Given the description of an element on the screen output the (x, y) to click on. 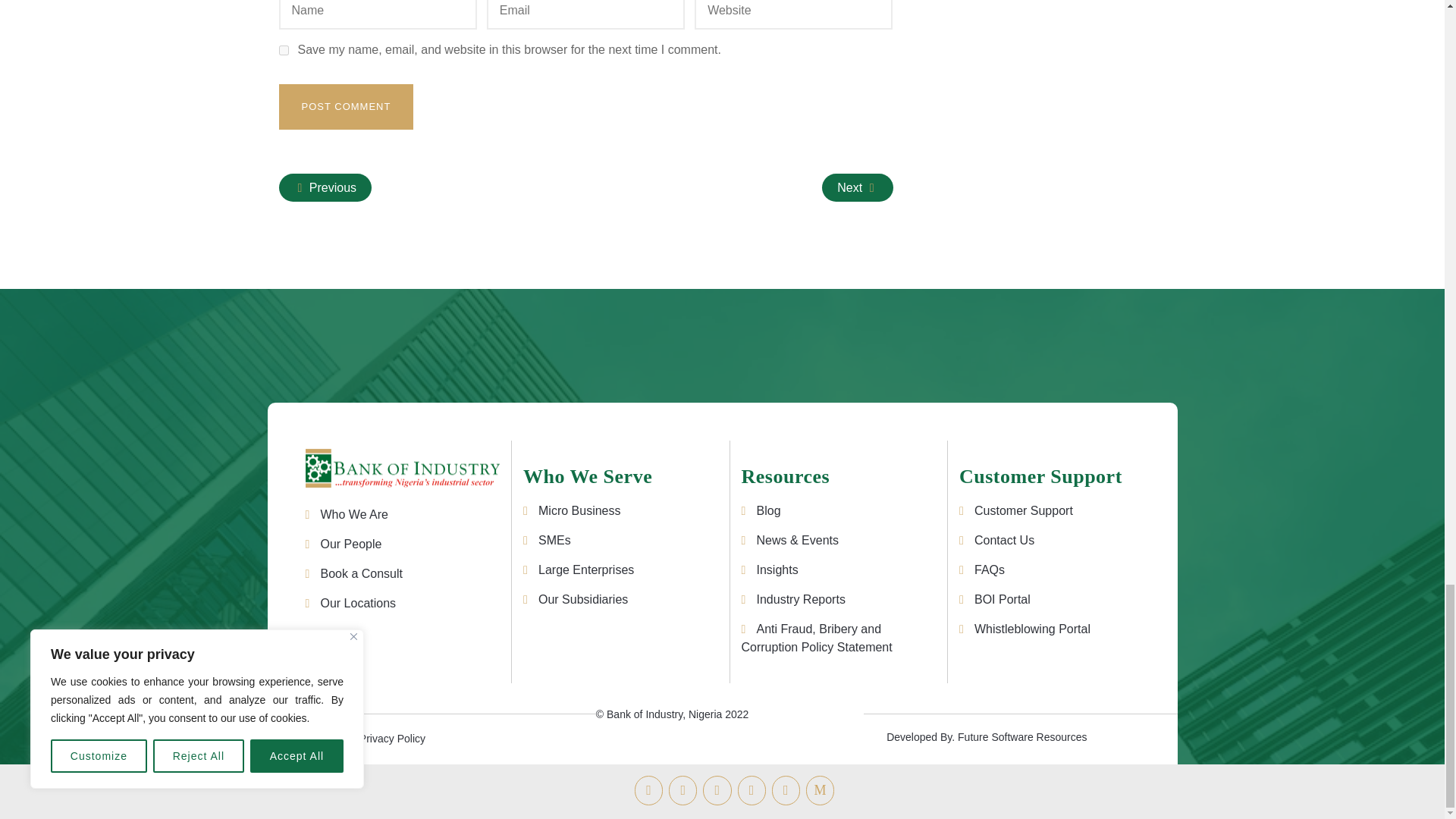
yes (283, 50)
Post Comment (346, 106)
